Given the description of an element on the screen output the (x, y) to click on. 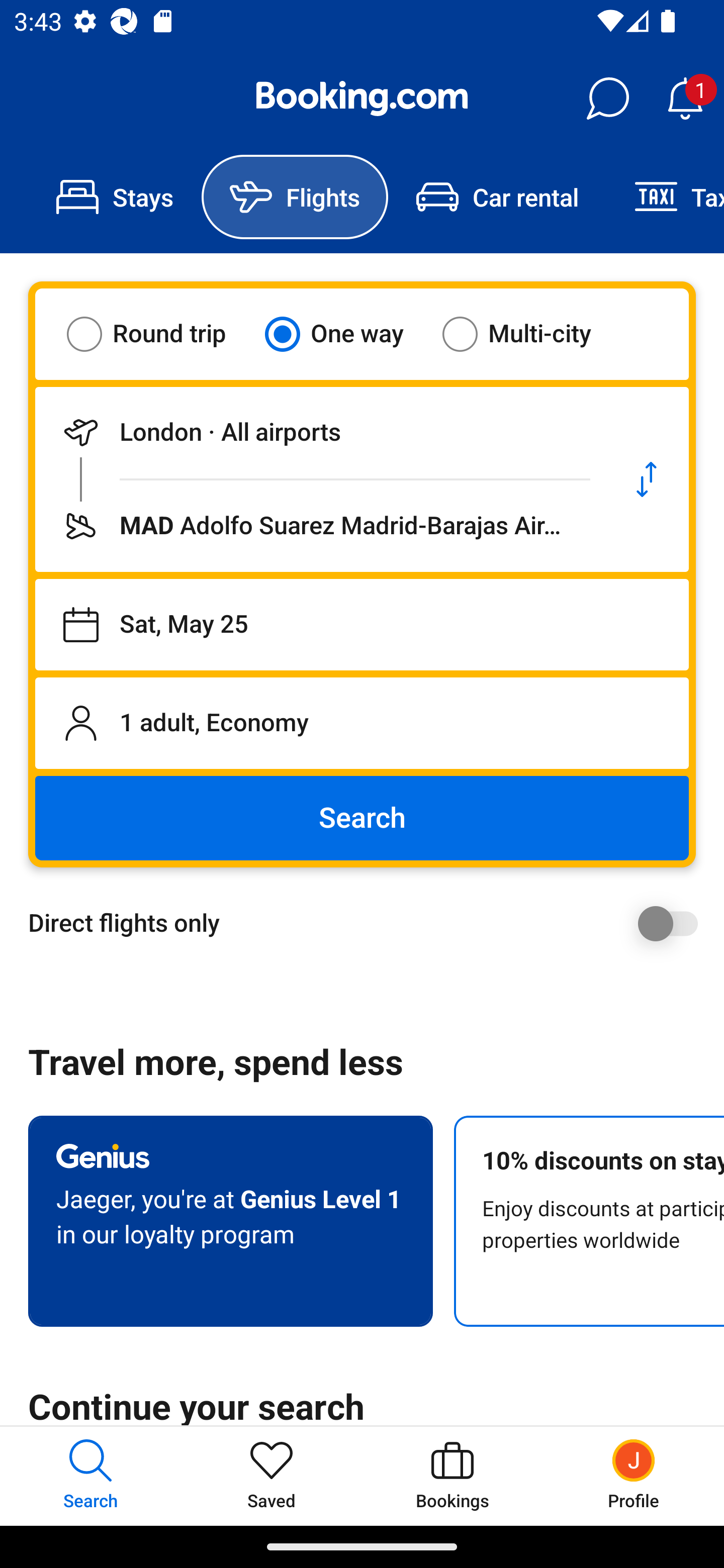
Messages (607, 98)
Notifications (685, 98)
Stays (114, 197)
Flights (294, 197)
Car rental (497, 197)
Taxi (665, 197)
Round trip (158, 333)
Multi-city (528, 333)
Departing from London · All airports (319, 432)
Swap departure location and destination (646, 479)
Flying to MAD Adolfo Suarez Madrid-Barajas Airport (319, 525)
Departing on Sat, May 25 (361, 624)
1 adult, Economy (361, 722)
Search (361, 818)
Direct flights only (369, 923)
Saved (271, 1475)
Bookings (452, 1475)
Profile (633, 1475)
